Given the description of an element on the screen output the (x, y) to click on. 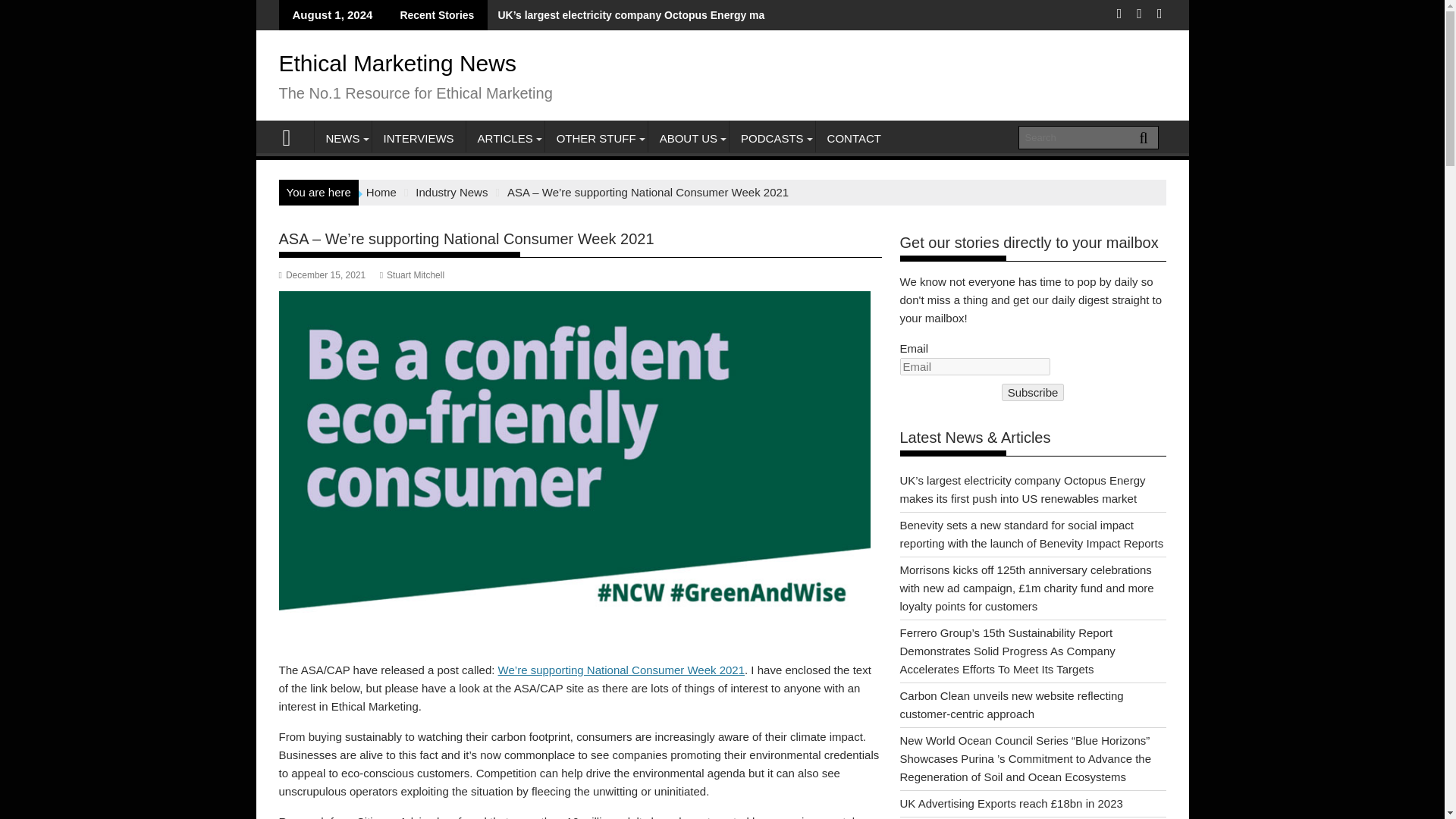
Ethical Marketing News (293, 136)
Ethical Marketing News (397, 63)
Subscribe (1032, 392)
NEWS (342, 138)
OTHER STUFF (595, 138)
INTERVIEWS (417, 138)
ABOUT US (688, 138)
ARTICLES (504, 138)
